Given the description of an element on the screen output the (x, y) to click on. 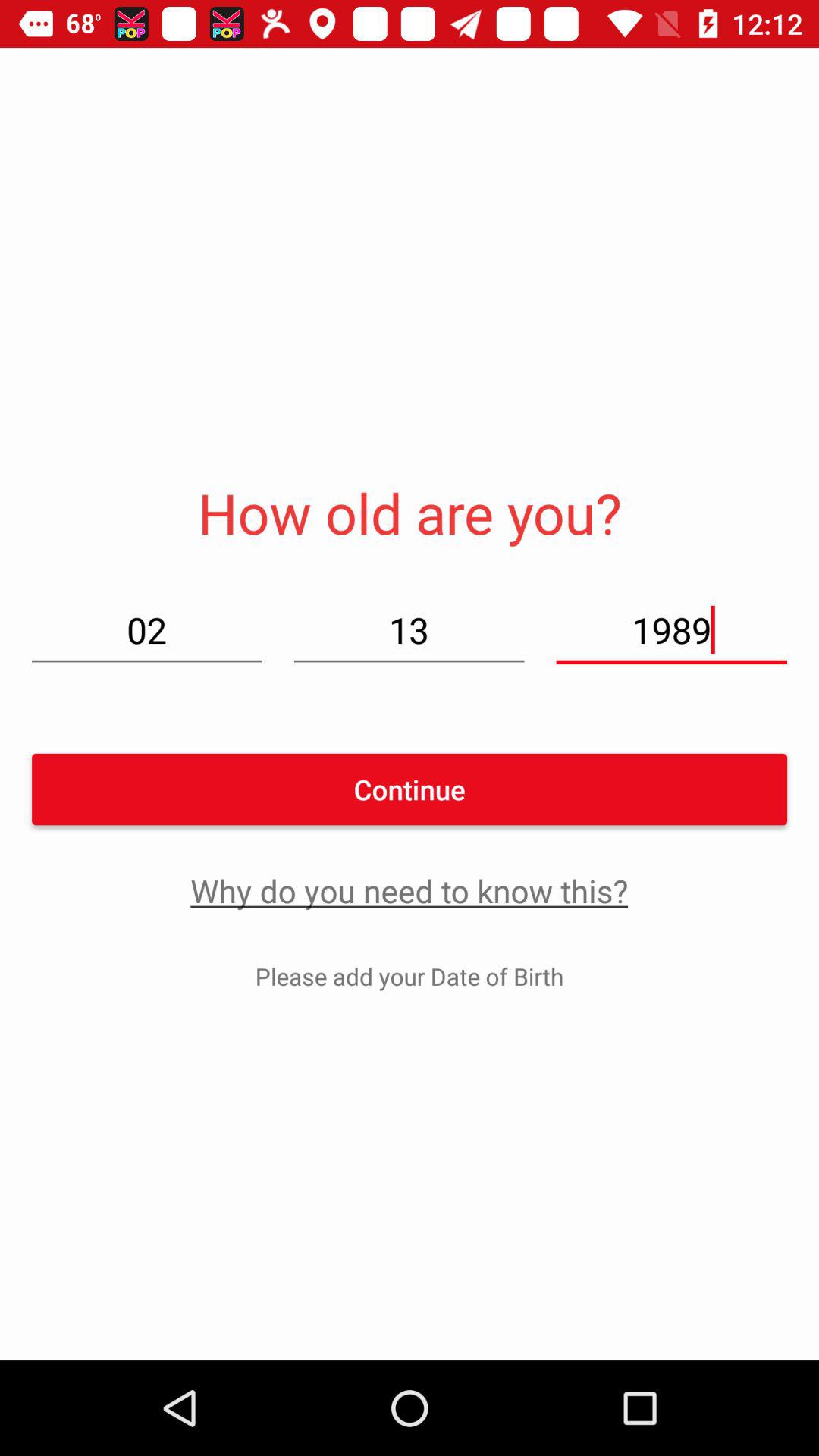
launch item above the continue (409, 629)
